Given the description of an element on the screen output the (x, y) to click on. 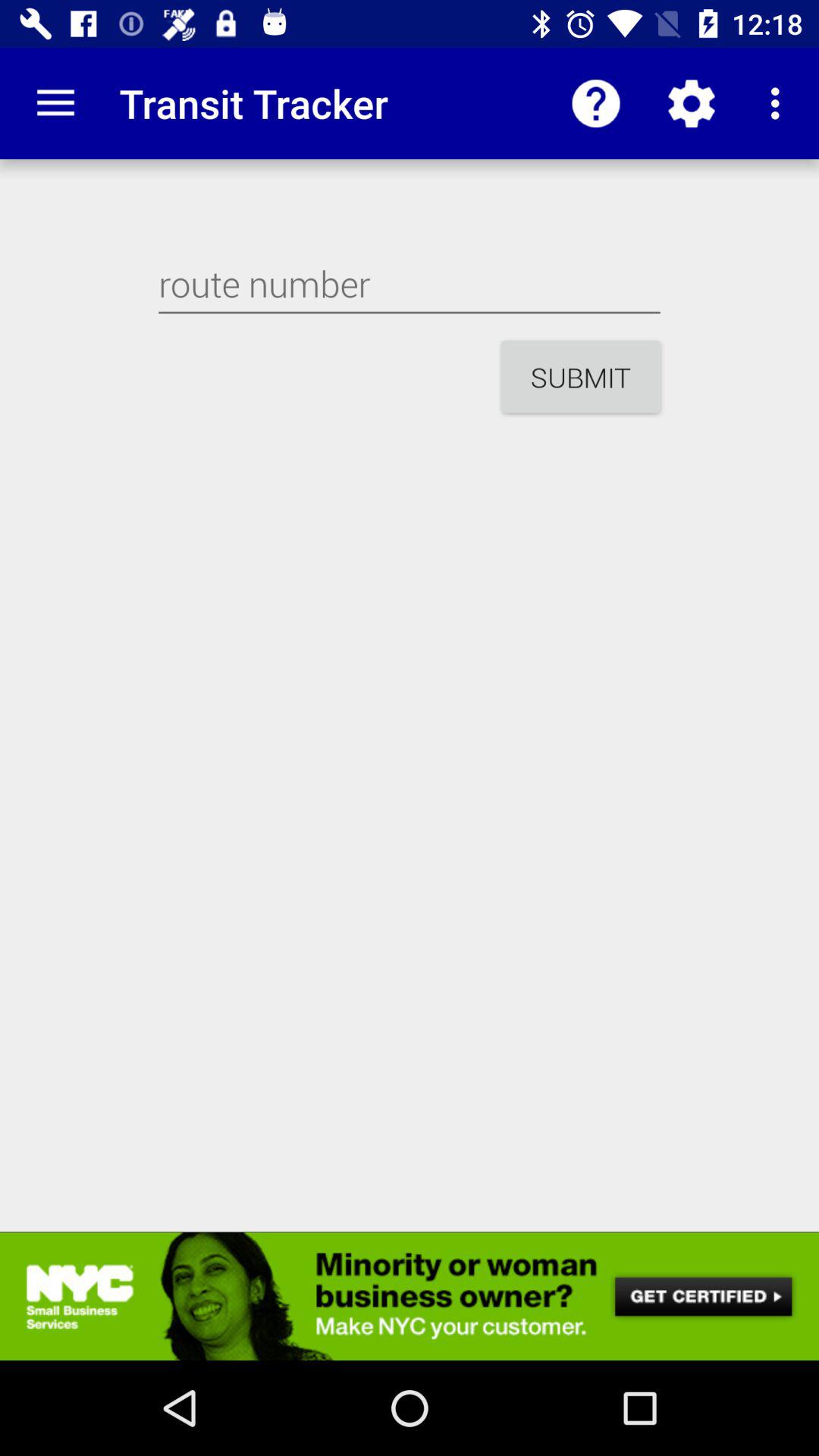
fill the line (409, 284)
